Given the description of an element on the screen output the (x, y) to click on. 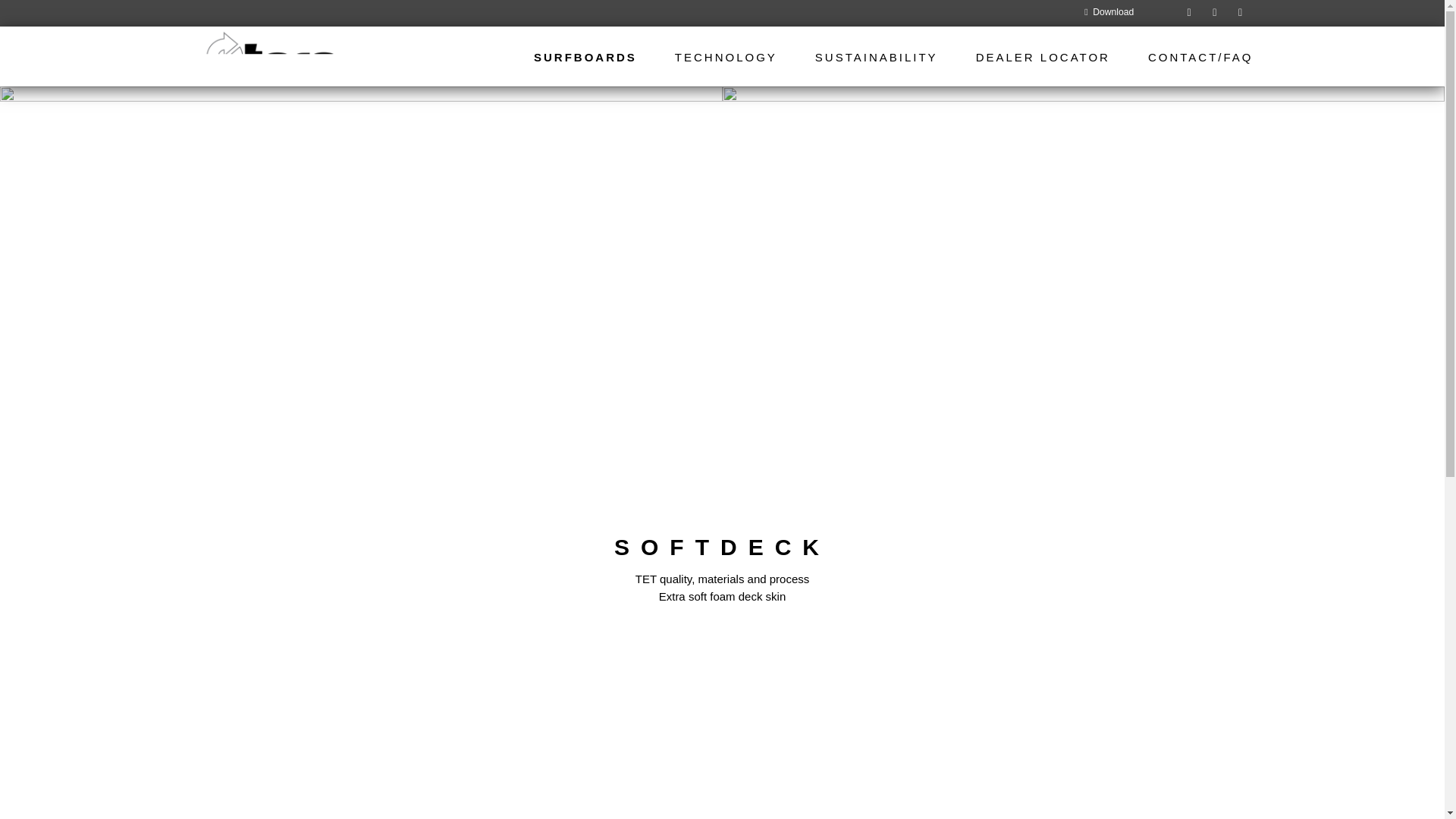
Torq logo white (271, 56)
All Ranges (595, 56)
Dealer Locator (1042, 56)
Technology (726, 56)
Download (1109, 11)
SURFBOARDS (595, 56)
SUSTAINABILITY (876, 56)
